Given the description of an element on the screen output the (x, y) to click on. 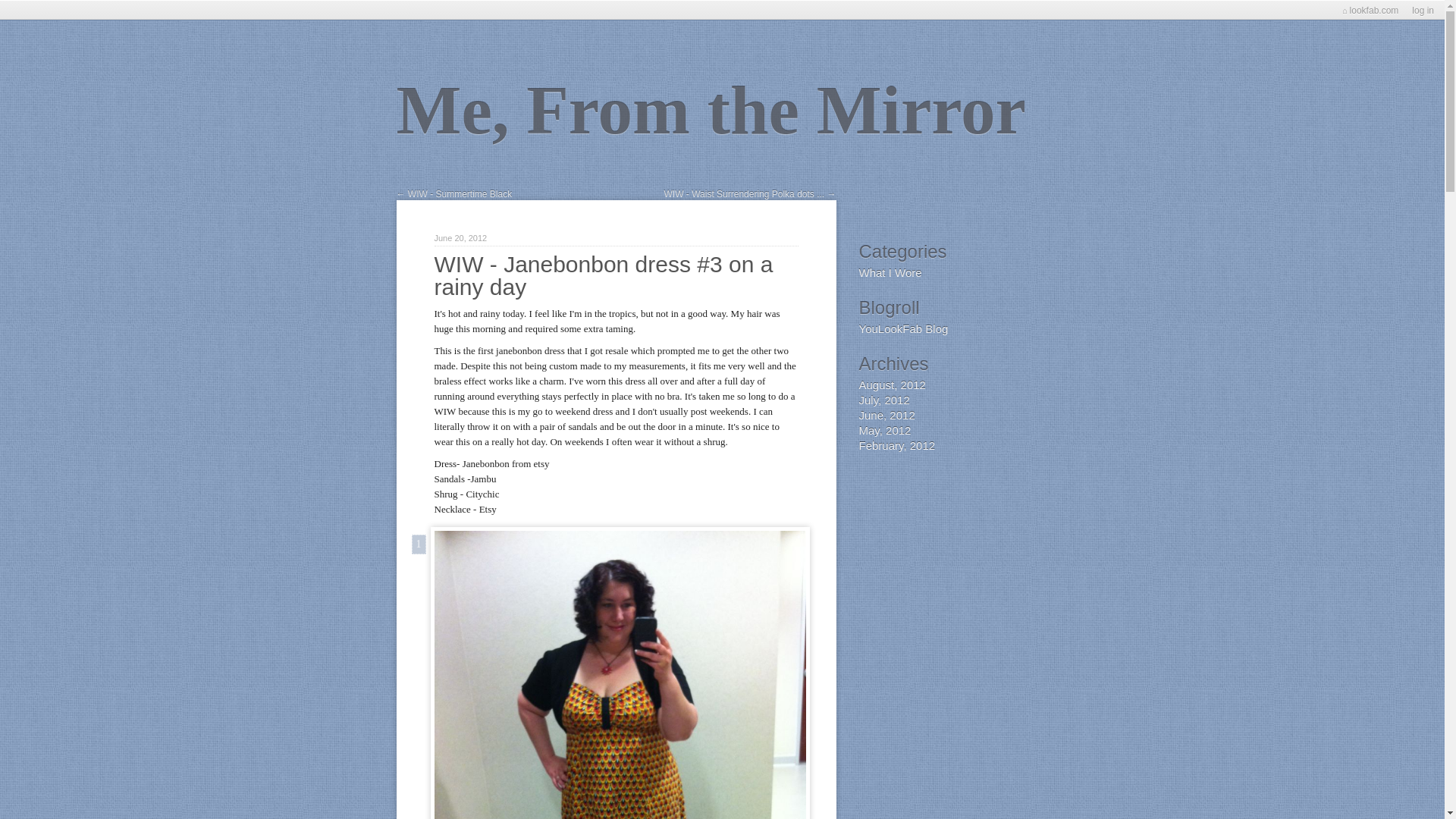
Archive for May, 2012 (884, 430)
Archive for February, 2012 (896, 445)
What I Wore (890, 272)
June, 2012 (886, 414)
February, 2012 (896, 445)
YouLookFab Blog (903, 328)
WIW - Summertime Black (453, 195)
Archive for August, 2012 (891, 384)
May, 2012 (884, 430)
August, 2012 (891, 384)
lookfab.com (1369, 10)
log in (1423, 10)
Descriptions of your daily ensembles (890, 272)
WIW - Waist Surrendering Polka dots ... (750, 195)
Archive for June, 2012 (886, 414)
